Given the description of an element on the screen output the (x, y) to click on. 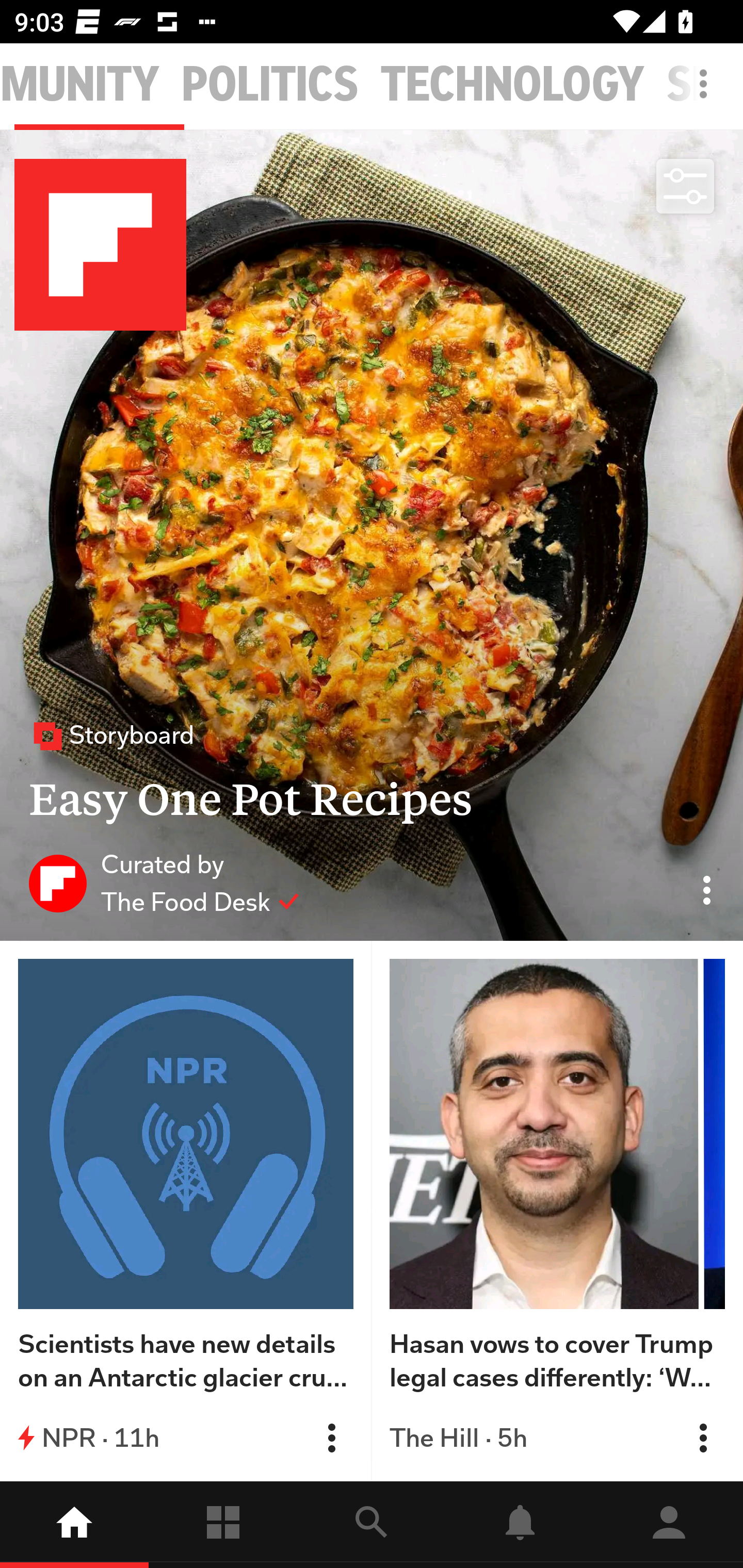
COMMUNITY (79, 84)
POLITICS (269, 84)
TECHNOLOGY (512, 84)
More options (706, 93)
Curated by The Food Desk (163, 882)
NPR · 11h Flip into Magazine (185, 1437)
The Hill · 5h Flip into Magazine (557, 1437)
Flip into Magazine (331, 1437)
Flip into Magazine (703, 1437)
home (74, 1524)
Following (222, 1524)
explore (371, 1524)
Notifications (519, 1524)
Profile (668, 1524)
